Given the description of an element on the screen output the (x, y) to click on. 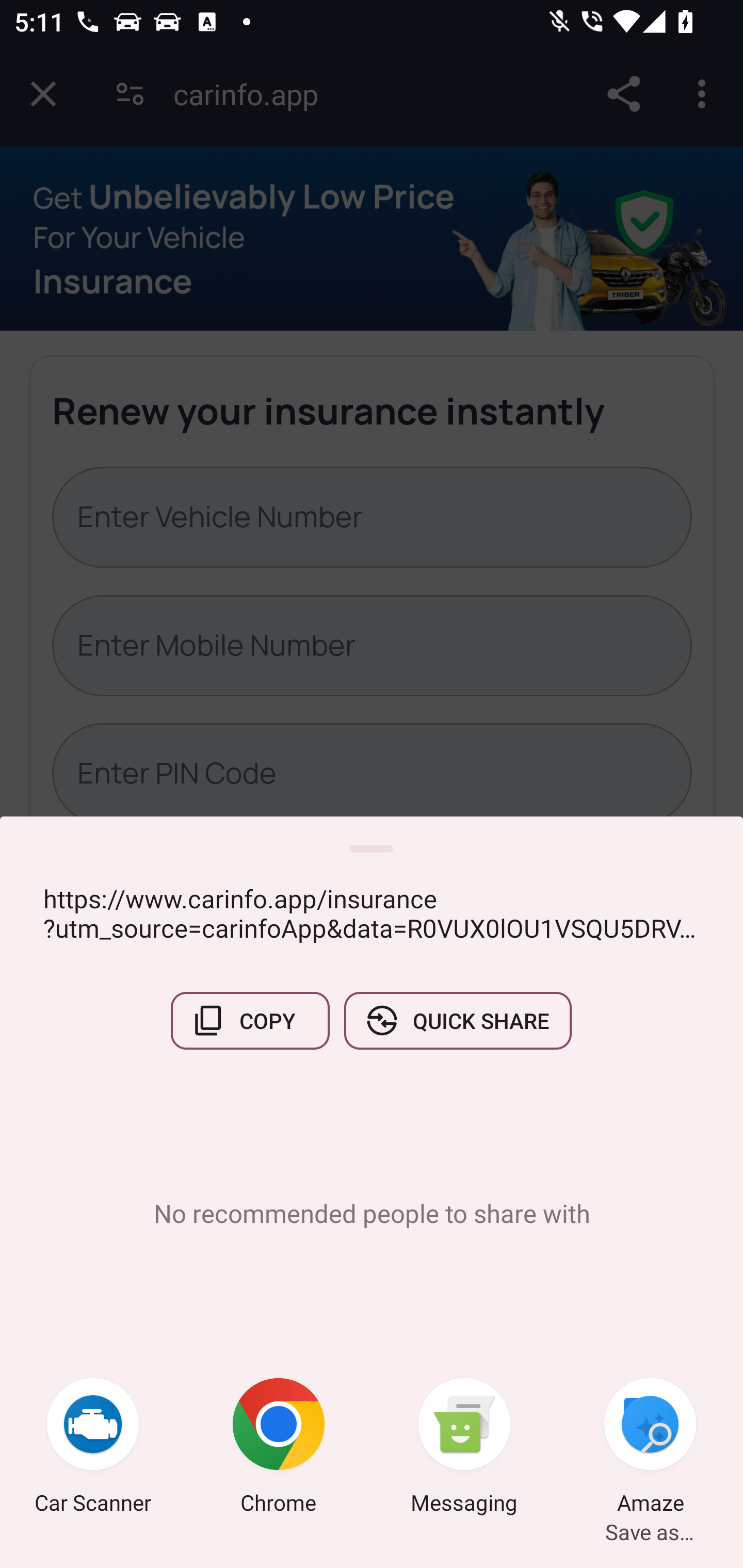
COPY (249, 1020)
QUICK SHARE (457, 1020)
Car Scanner (92, 1448)
Chrome (278, 1448)
Messaging (464, 1448)
Amaze Save as… (650, 1448)
